Given the description of an element on the screen output the (x, y) to click on. 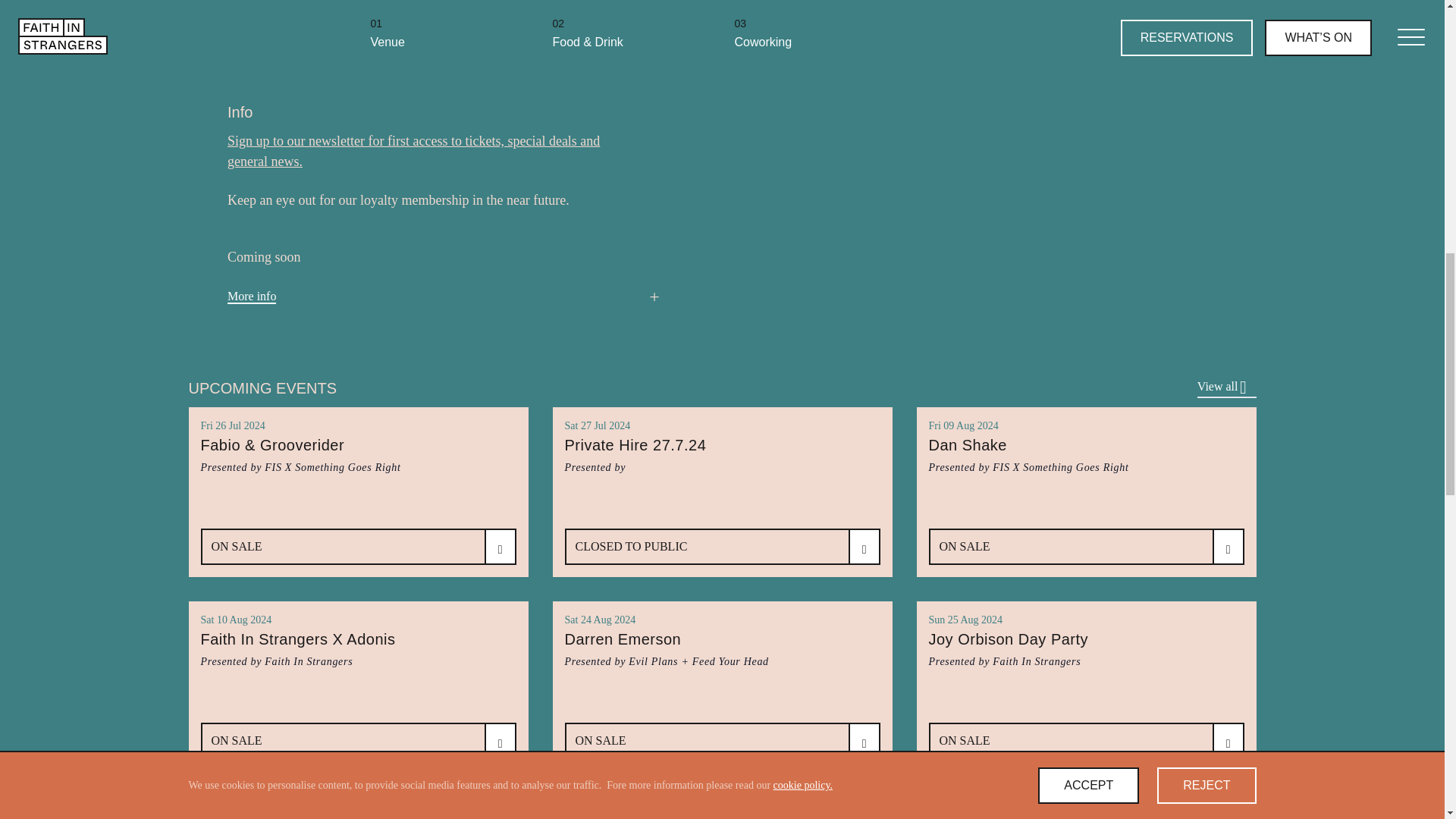
Coming Soon 7.9.24 (357, 813)
Private Hire 27.7.24 (721, 455)
Joy Orbison Day Party (1085, 649)
Darren Emerson (721, 649)
Faith In Strangers X Adonis (357, 649)
Dan Shake (1085, 455)
View all (1226, 388)
